Given the description of an element on the screen output the (x, y) to click on. 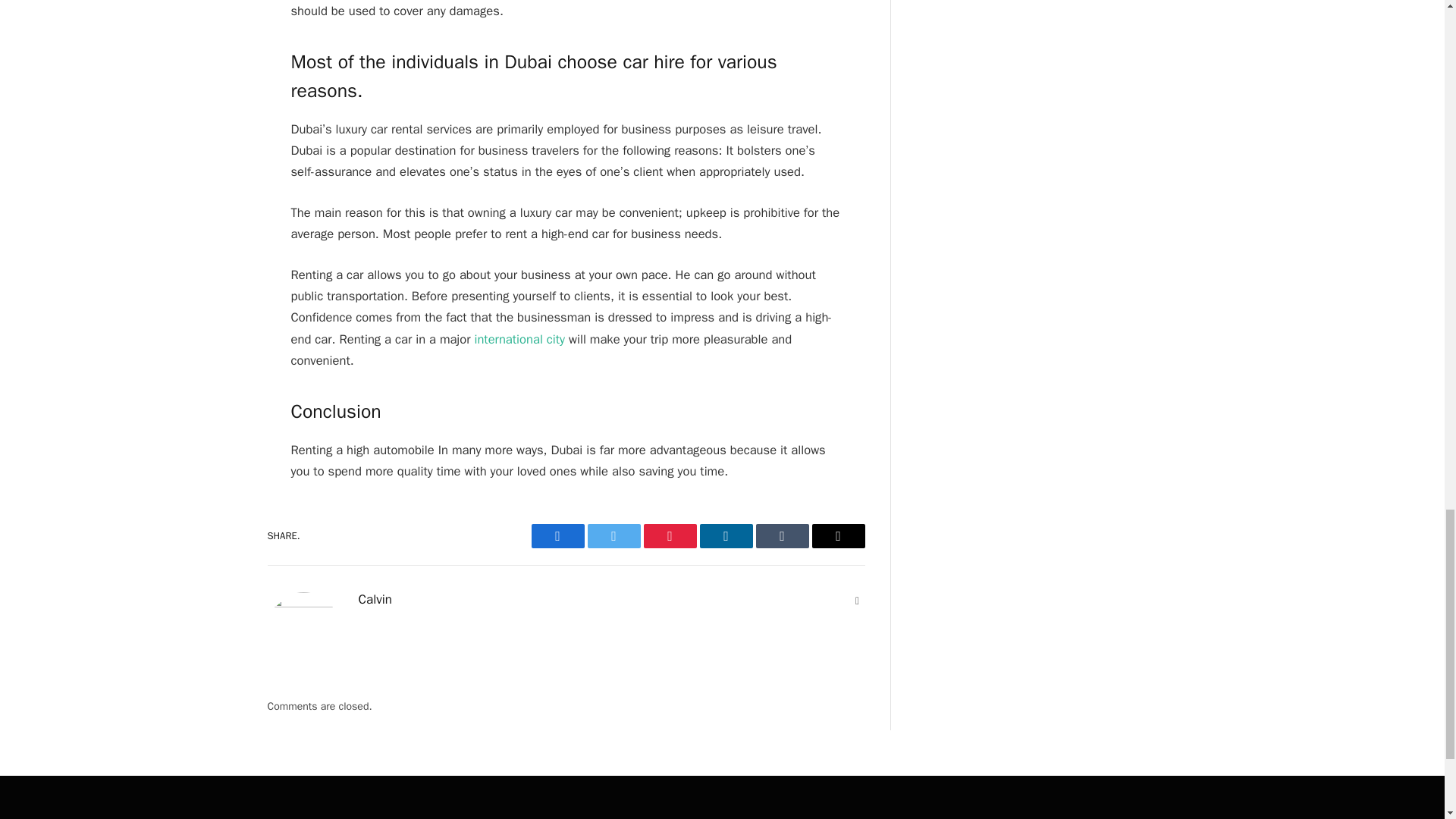
Facebook (557, 535)
Tumblr (781, 535)
LinkedIn (725, 535)
Calvin (374, 599)
international city (519, 339)
Website (856, 601)
Pinterest (669, 535)
Twitter (613, 535)
Email (837, 535)
